Given the description of an element on the screen output the (x, y) to click on. 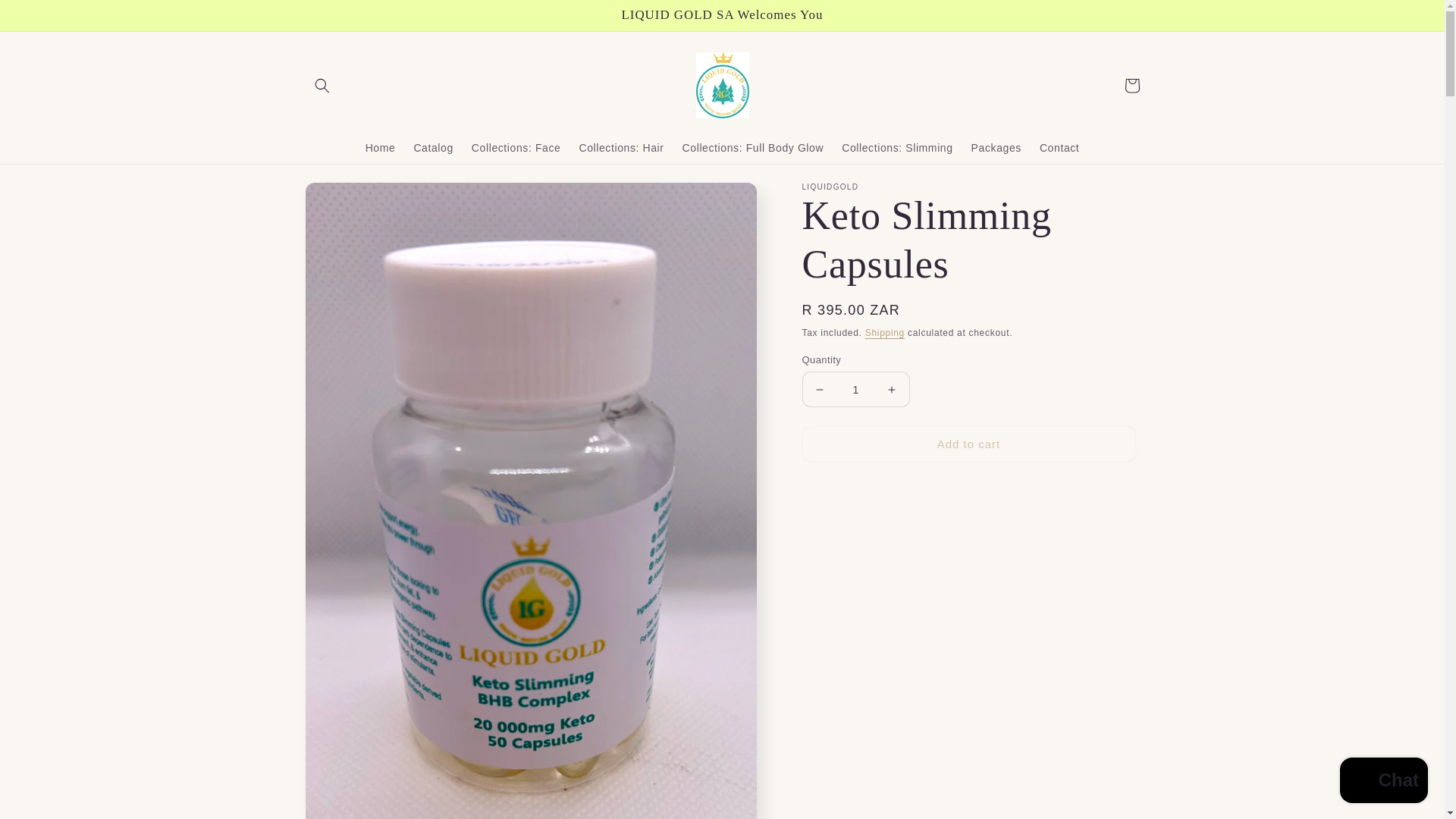
Cart (1131, 85)
Shipping (884, 332)
Skip to product information (350, 199)
Catalog (432, 147)
Contact (1058, 147)
Shopify online store chat (1383, 781)
Packages (996, 147)
1 (856, 389)
Skip to content (45, 17)
Home (380, 147)
Collections: Slimming (896, 147)
Collections: Hair (620, 147)
Collections: Face (516, 147)
Collections: Full Body Glow (752, 147)
